Given the description of an element on the screen output the (x, y) to click on. 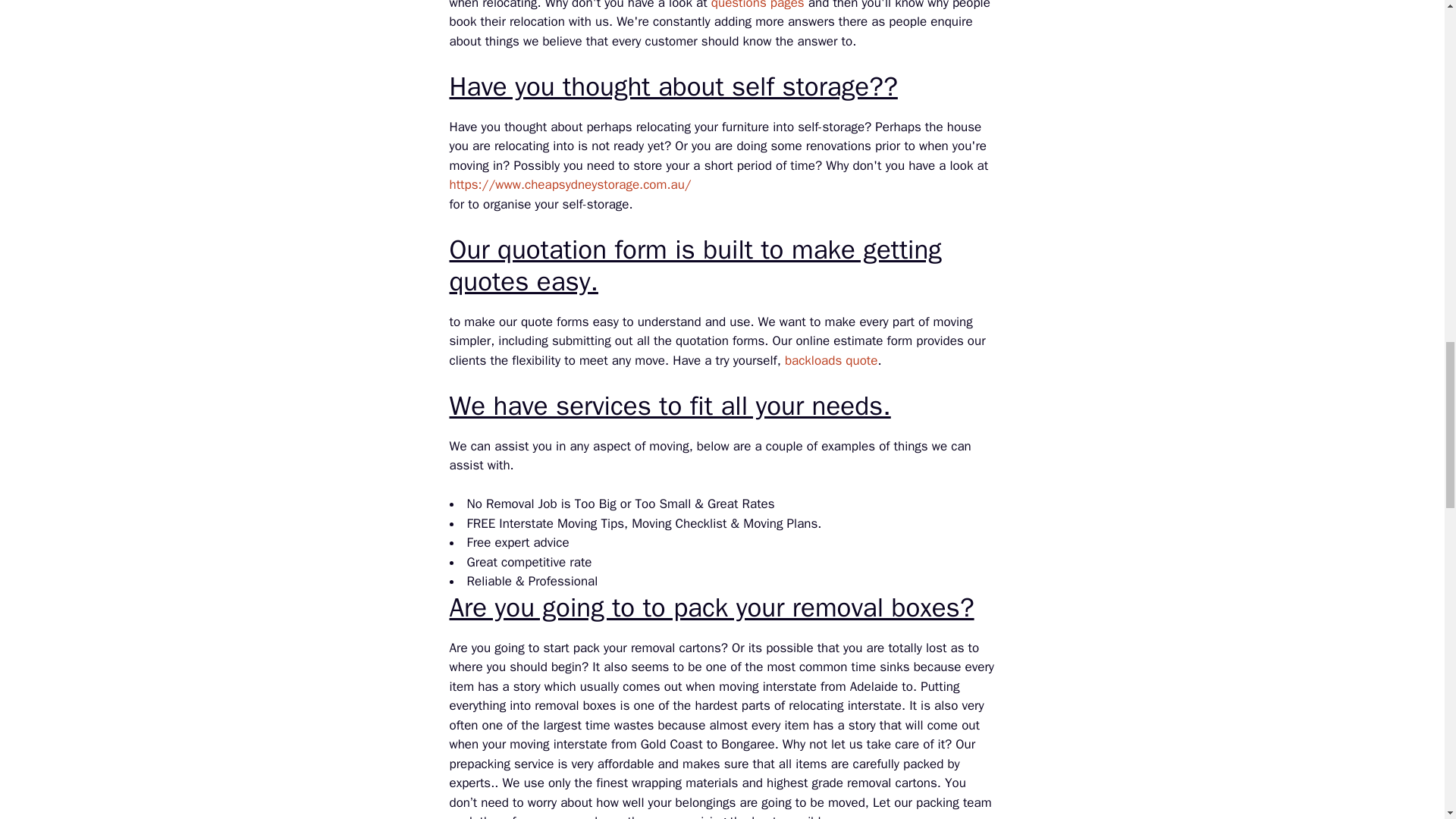
questions pages (758, 5)
Self Storage (569, 184)
backloads quote (830, 360)
